Given the description of an element on the screen output the (x, y) to click on. 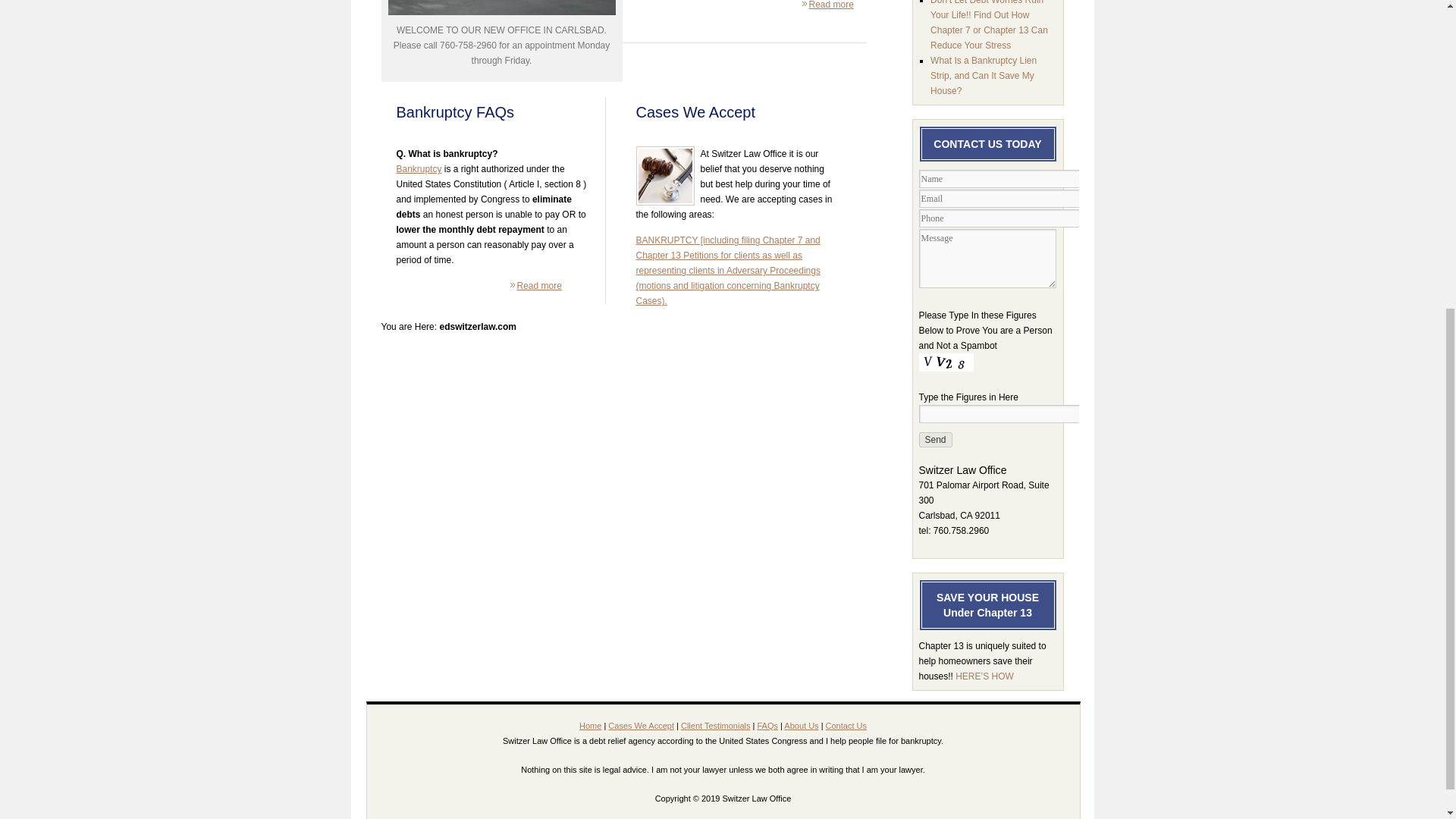
Home (590, 725)
What Is a Bankruptcy Lien Strip, and Can It Save My House? (983, 75)
Read more (830, 4)
Send (935, 439)
Send (935, 439)
FAQs (767, 725)
Contact Us (845, 725)
Cases We Accept (641, 725)
Client Testimonials (716, 725)
What is Bankruptcy and How Can It Help You? (418, 168)
Bankruptcy (418, 168)
About Us (801, 725)
Read more (539, 285)
